Given the description of an element on the screen output the (x, y) to click on. 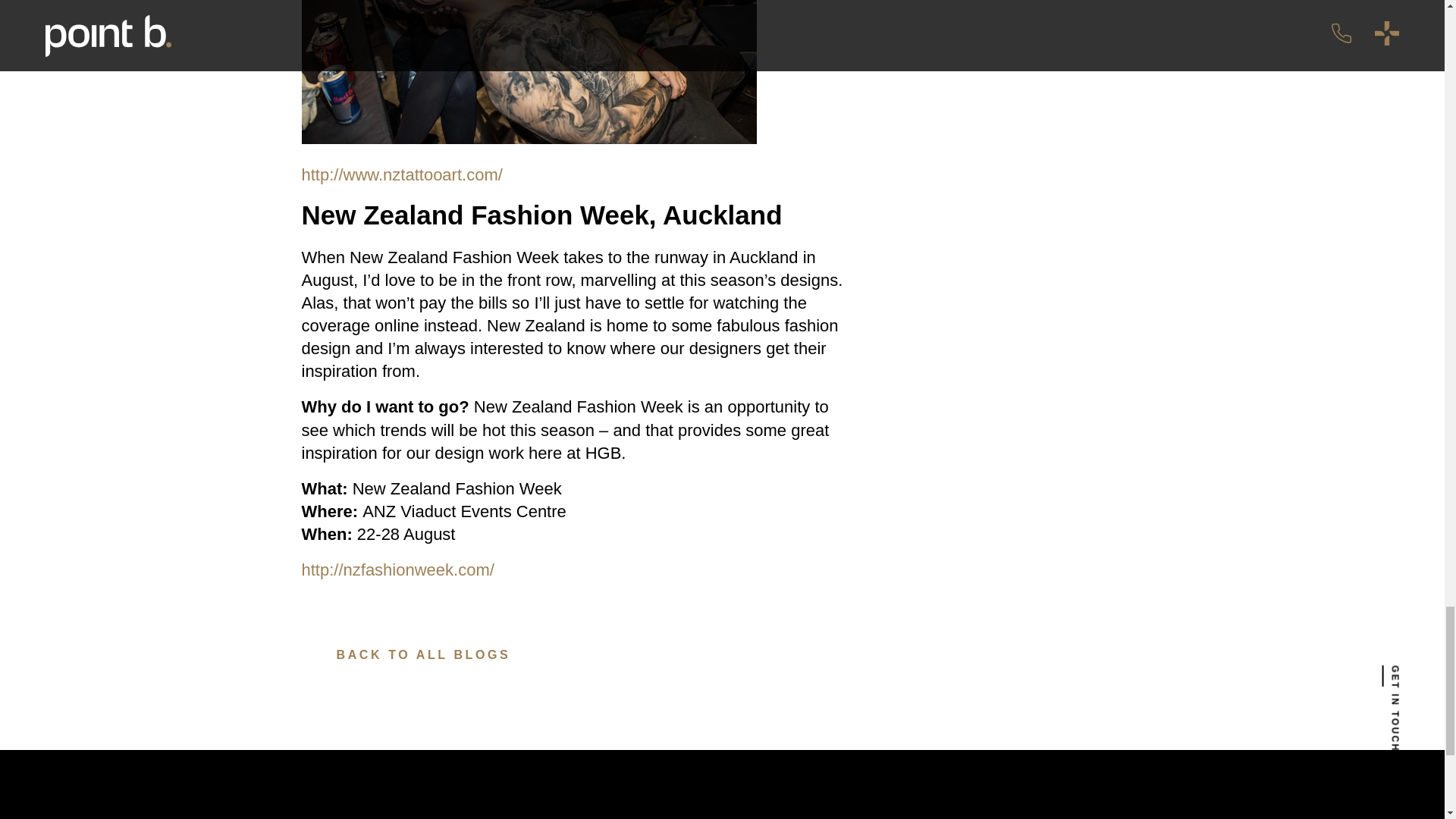
BACK TO ALL BLOGS (406, 654)
BACK TO ALL BLOGS (406, 654)
